Given the description of an element on the screen output the (x, y) to click on. 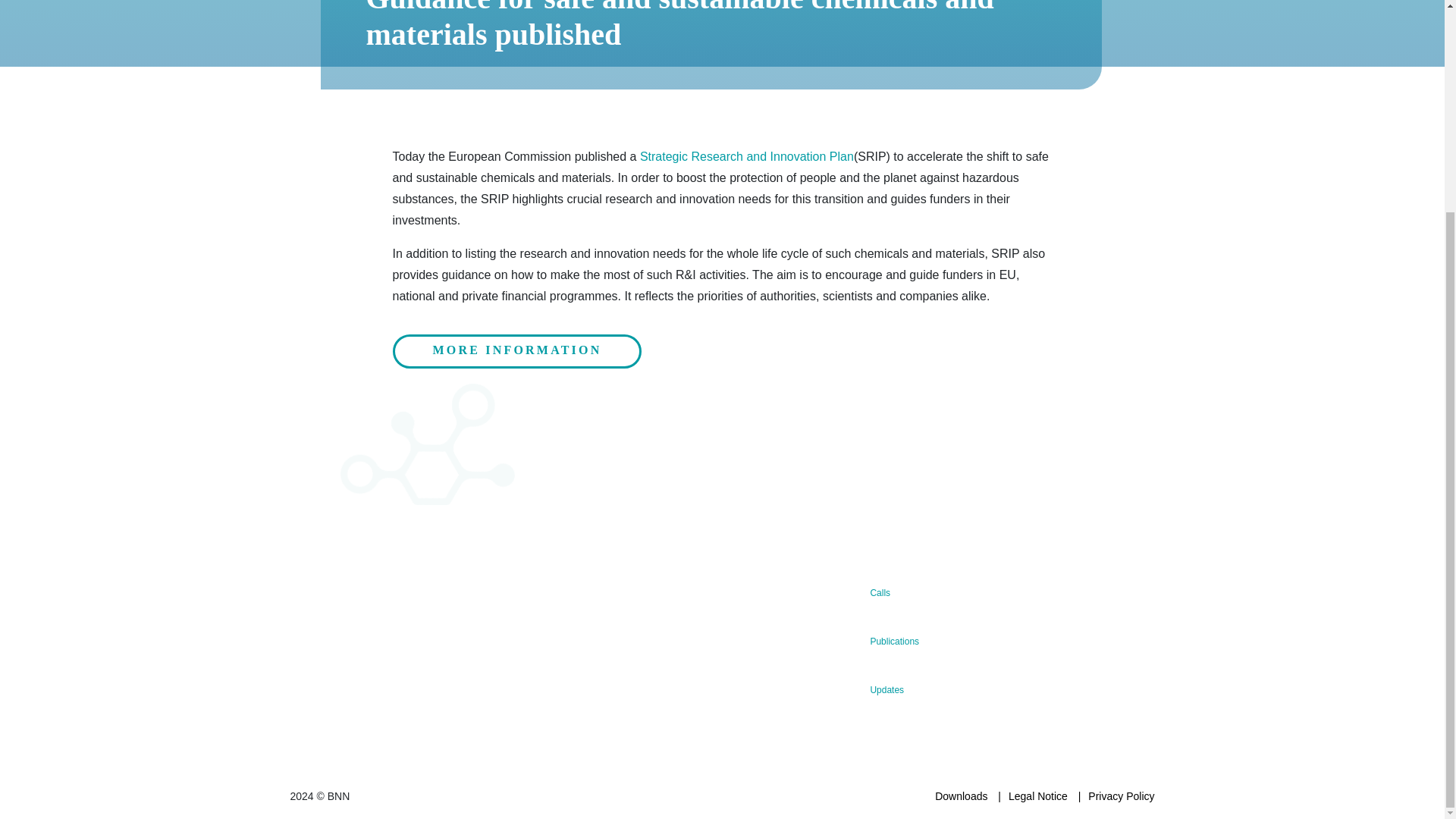
Subscribe to Newsletter (603, 632)
Visit us on Youtube (397, 692)
Strategic Research and Innovation Plan (746, 155)
MORE INFORMATION (517, 351)
Visit us on Twitter (306, 692)
BioNanoNet Association celebrated its 10th anniversary (981, 699)
Visit us on LinkedIn (351, 692)
Ongoing COST Actions OPEN for Austrian participations (981, 602)
